Given the description of an element on the screen output the (x, y) to click on. 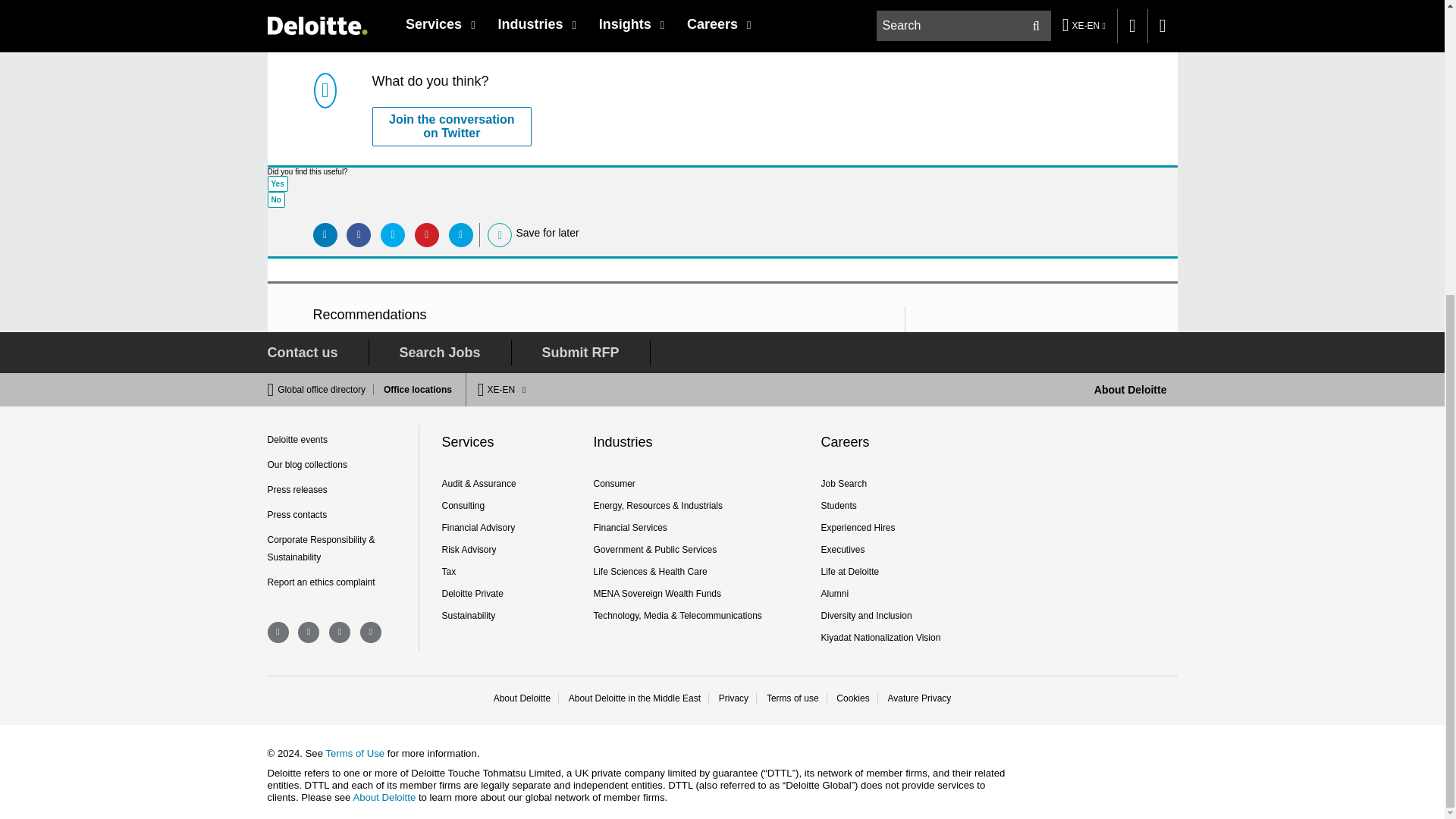
Share on Twitter (392, 234)
Share on LinkedIn (324, 234)
Share by email (460, 234)
Save for later (499, 234)
Share on Pinterest (426, 234)
Global office directory (326, 389)
Share on Facebook (358, 234)
